Given the description of an element on the screen output the (x, y) to click on. 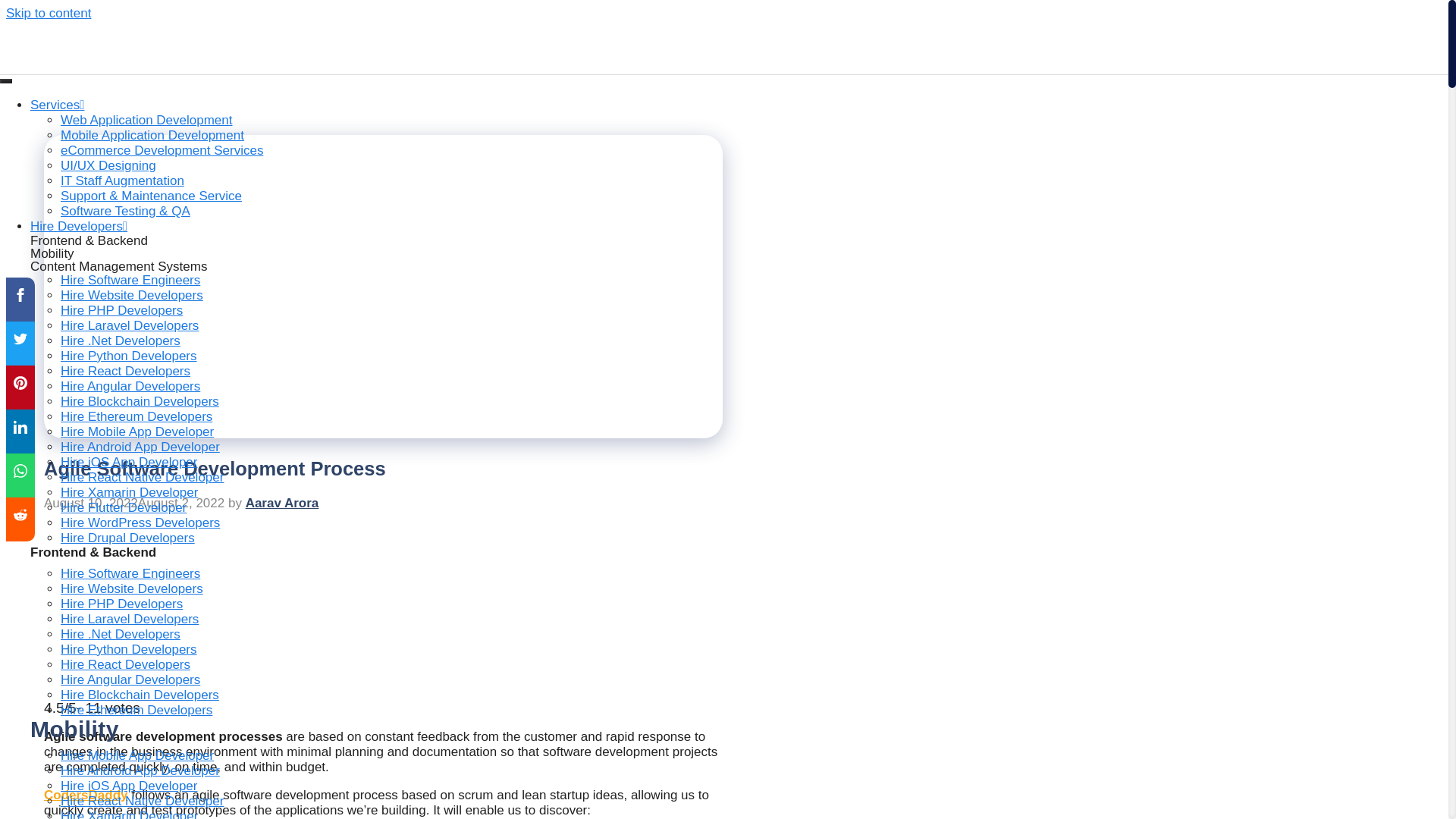
Hire React Developers (125, 664)
Hire iOS App Developer (128, 462)
Web Application Development (146, 120)
Skip to content (47, 12)
Hire Xamarin Developer (129, 492)
Hire Website Developers (132, 295)
Skip to content (47, 12)
Hire Software Engineers (130, 573)
Hire Python Developers (128, 649)
eCommerce Development Services (162, 150)
